Given the description of an element on the screen output the (x, y) to click on. 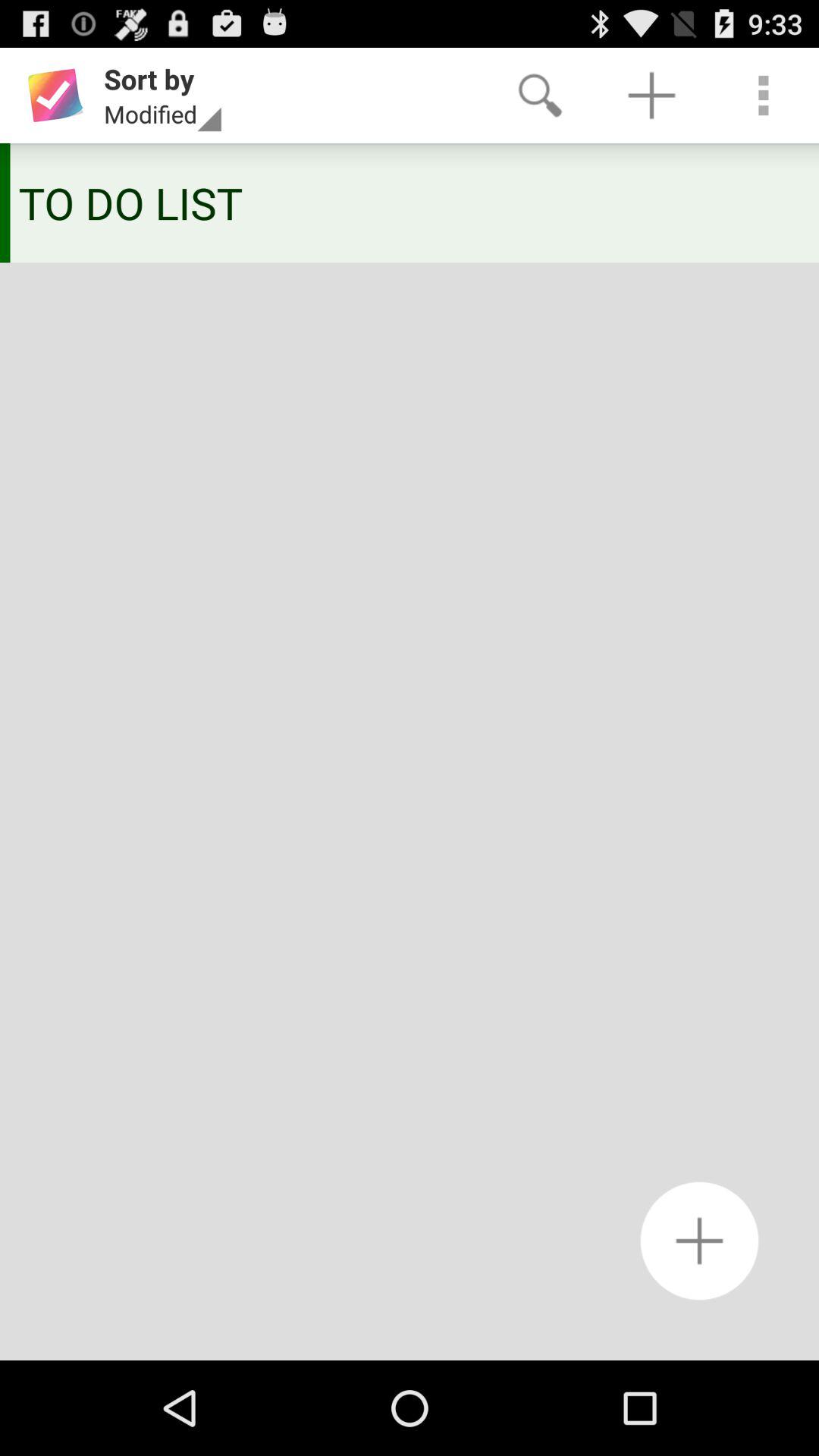
choose the icon above to do list icon (540, 95)
